Given the description of an element on the screen output the (x, y) to click on. 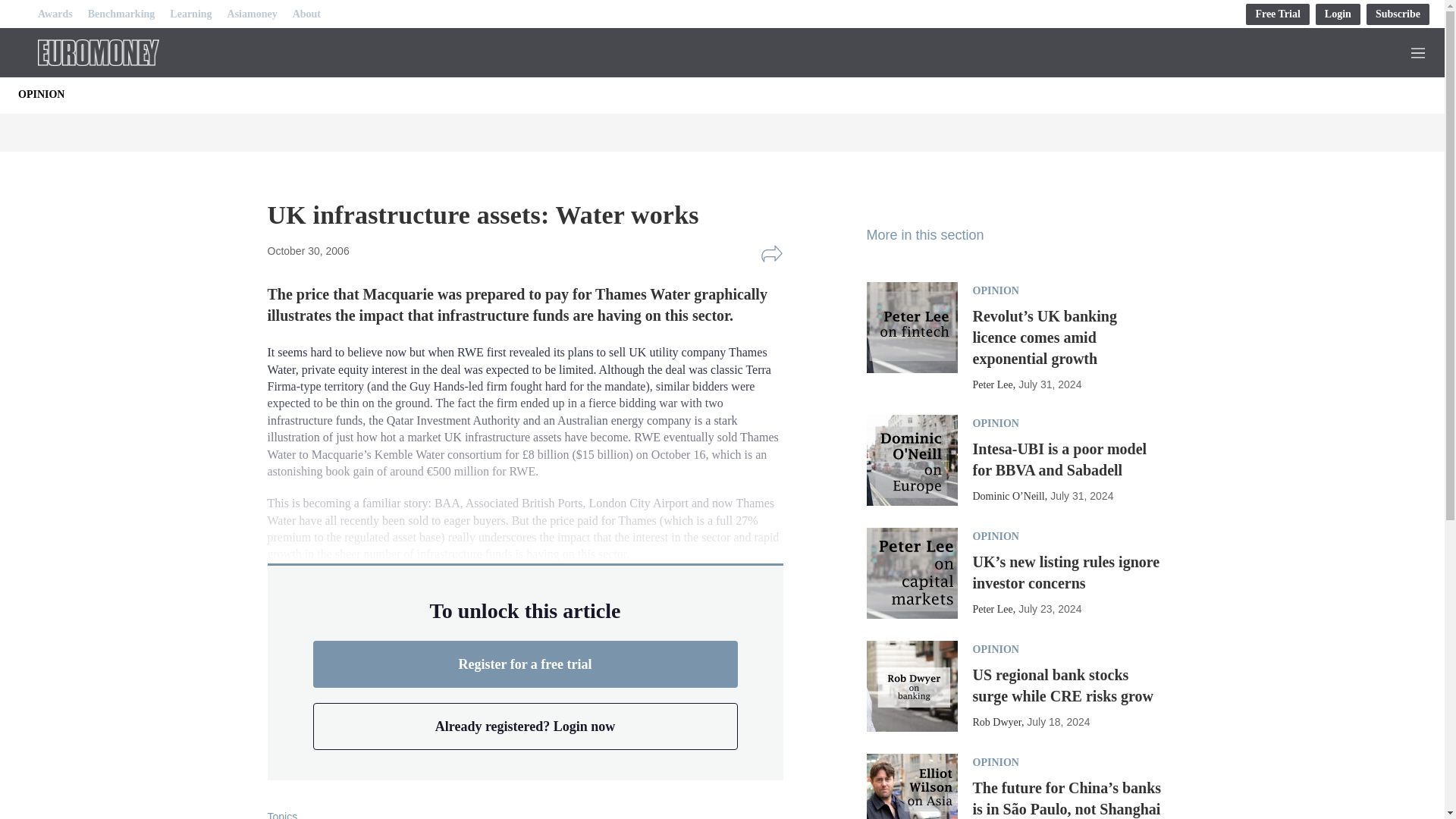
Benchmarking (121, 13)
Awards (54, 13)
Learning (190, 13)
About (306, 13)
Free Trial (1277, 13)
Asiamoney (252, 13)
Login (1337, 13)
Share (771, 253)
Subscribe (1398, 13)
